Given the description of an element on the screen output the (x, y) to click on. 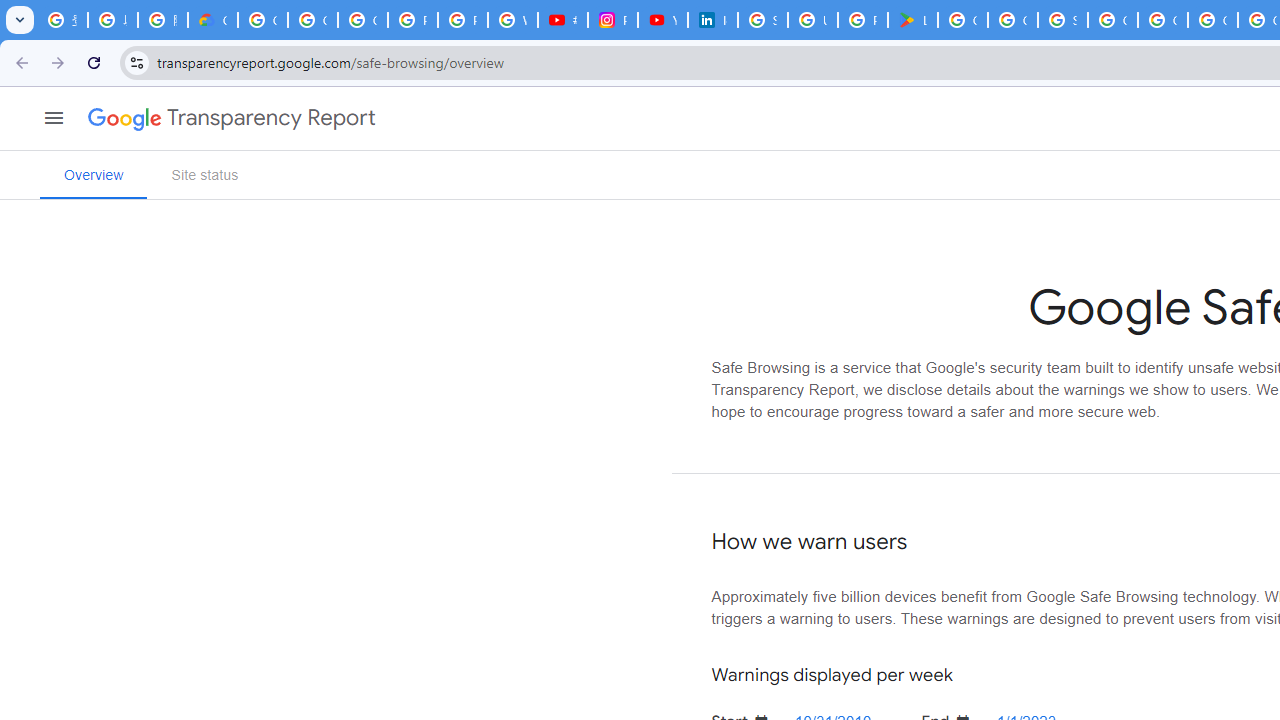
Privacy Help Center - Policies Help (462, 20)
Google (116, 118)
